Given the description of an element on the screen output the (x, y) to click on. 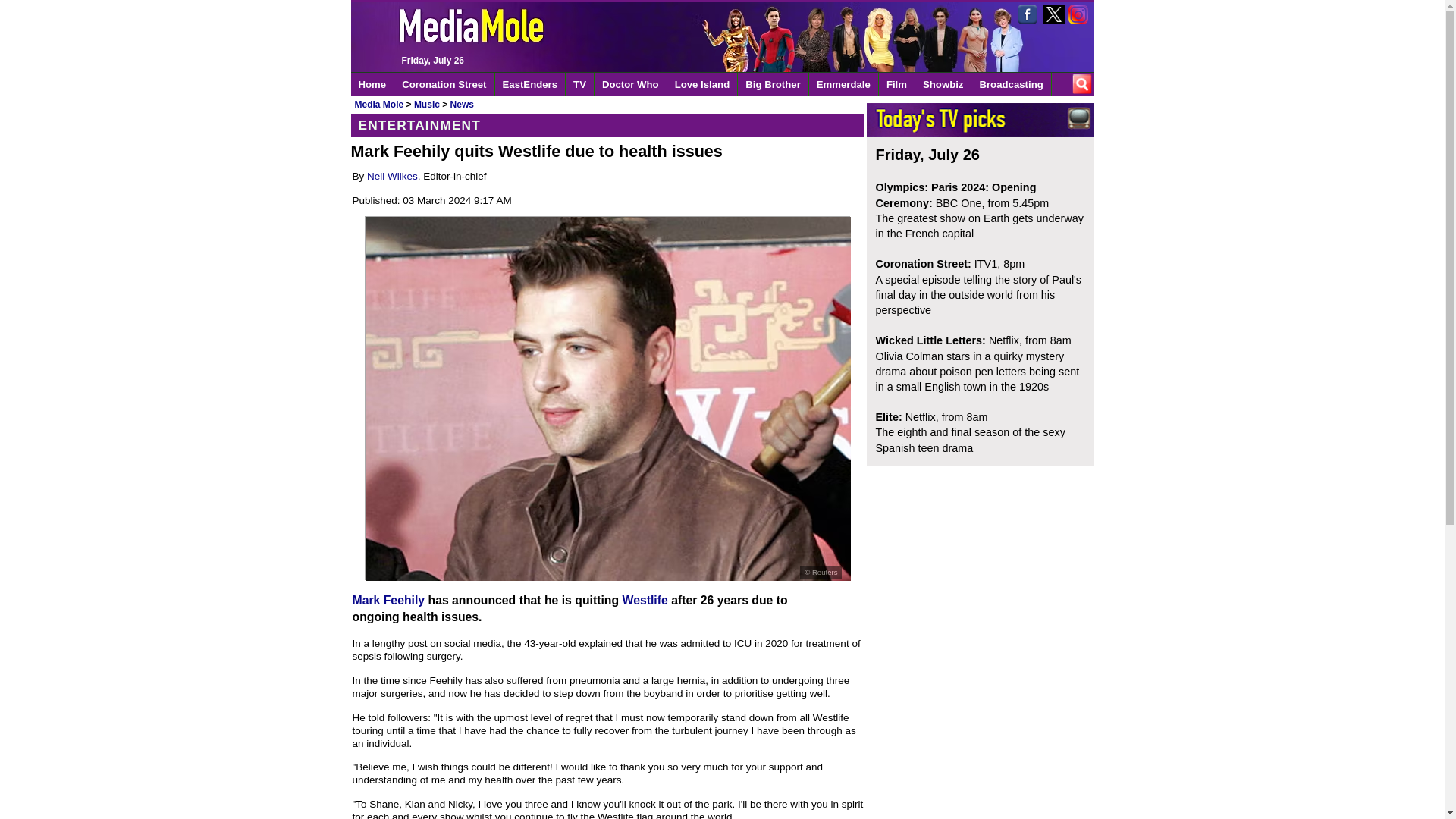
Home (372, 83)
Twitter (1053, 14)
ENTERTAINMENT (606, 125)
Media Mole (379, 104)
Music (426, 104)
EastEnders (530, 83)
Facebook (1029, 14)
Emmerdale (844, 83)
Media Mole - Entertainment News (372, 83)
Broadcasting (1011, 83)
Love Island (702, 83)
Instagram (1078, 14)
Search (1081, 84)
Film (897, 83)
Welcome to Media Mole (681, 36)
